Given the description of an element on the screen output the (x, y) to click on. 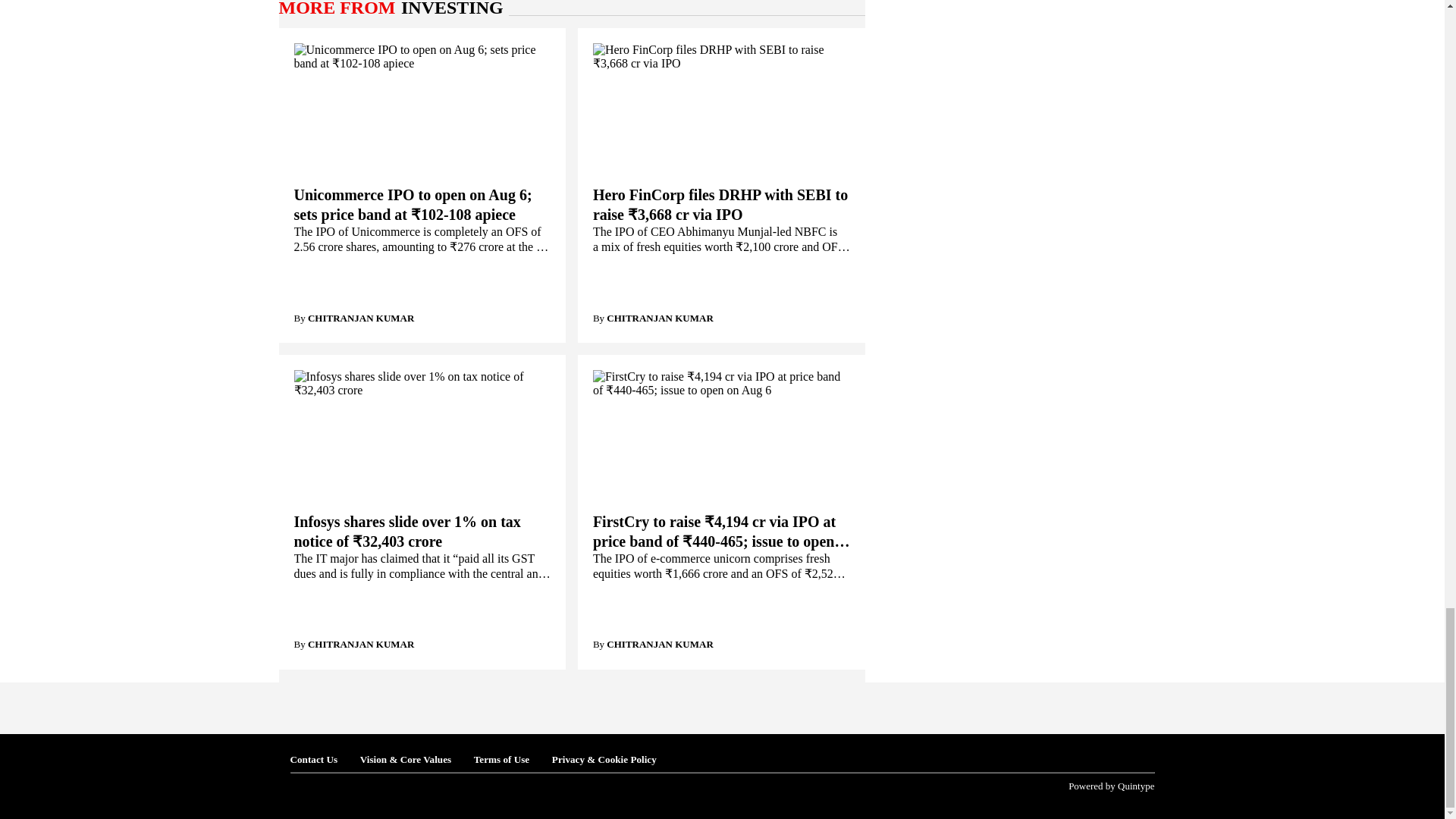
Chitranjan Kumar (360, 317)
